Given the description of an element on the screen output the (x, y) to click on. 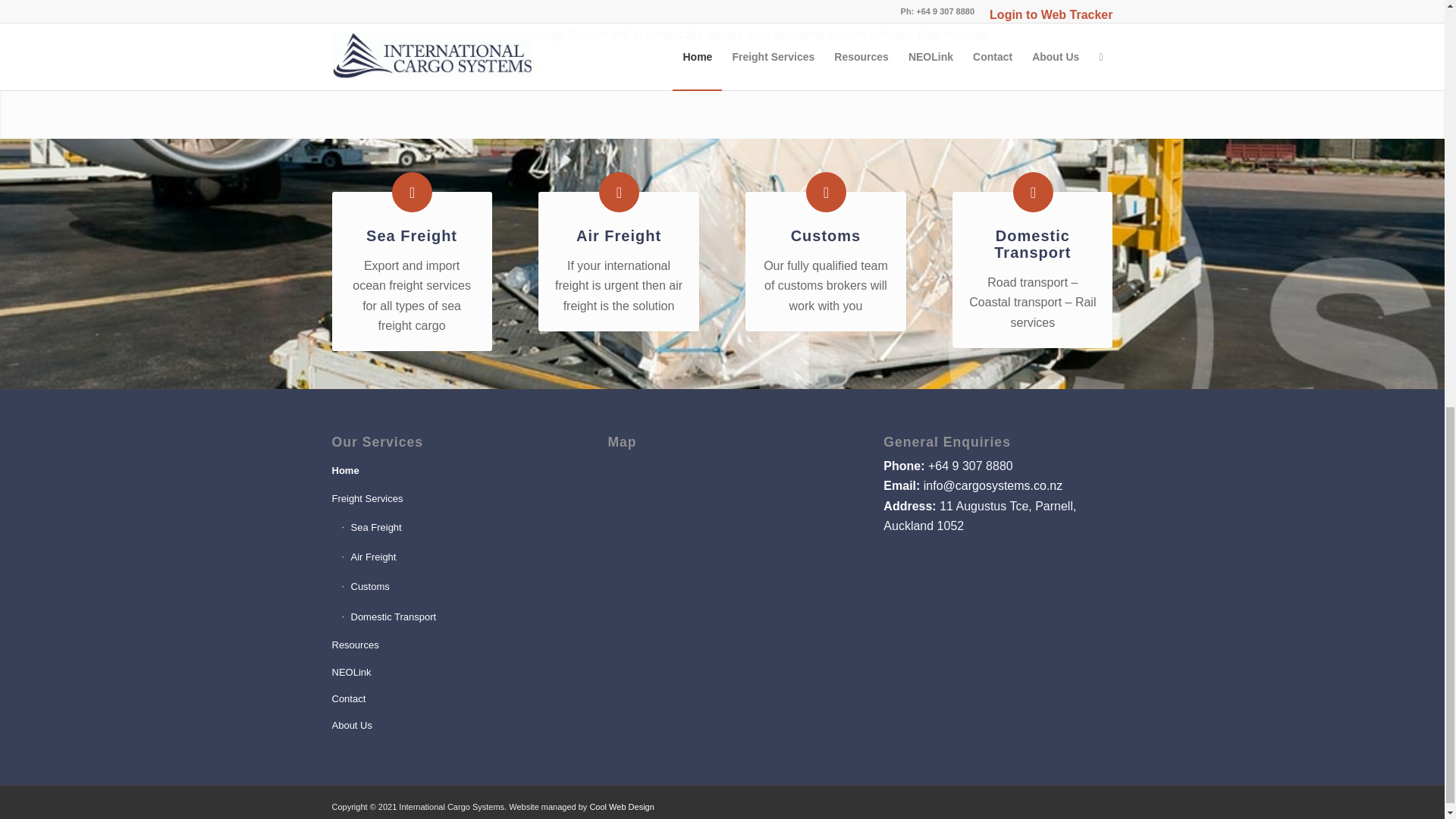
Sea Freight (411, 191)
Domestic Transport (1032, 191)
Customs (450, 586)
Air Freight (618, 235)
Domestic Transport (1032, 244)
Resources (445, 645)
Sea Freight (411, 235)
Air Freight (450, 557)
Domestic Transport (450, 617)
Home (445, 471)
